Given the description of an element on the screen output the (x, y) to click on. 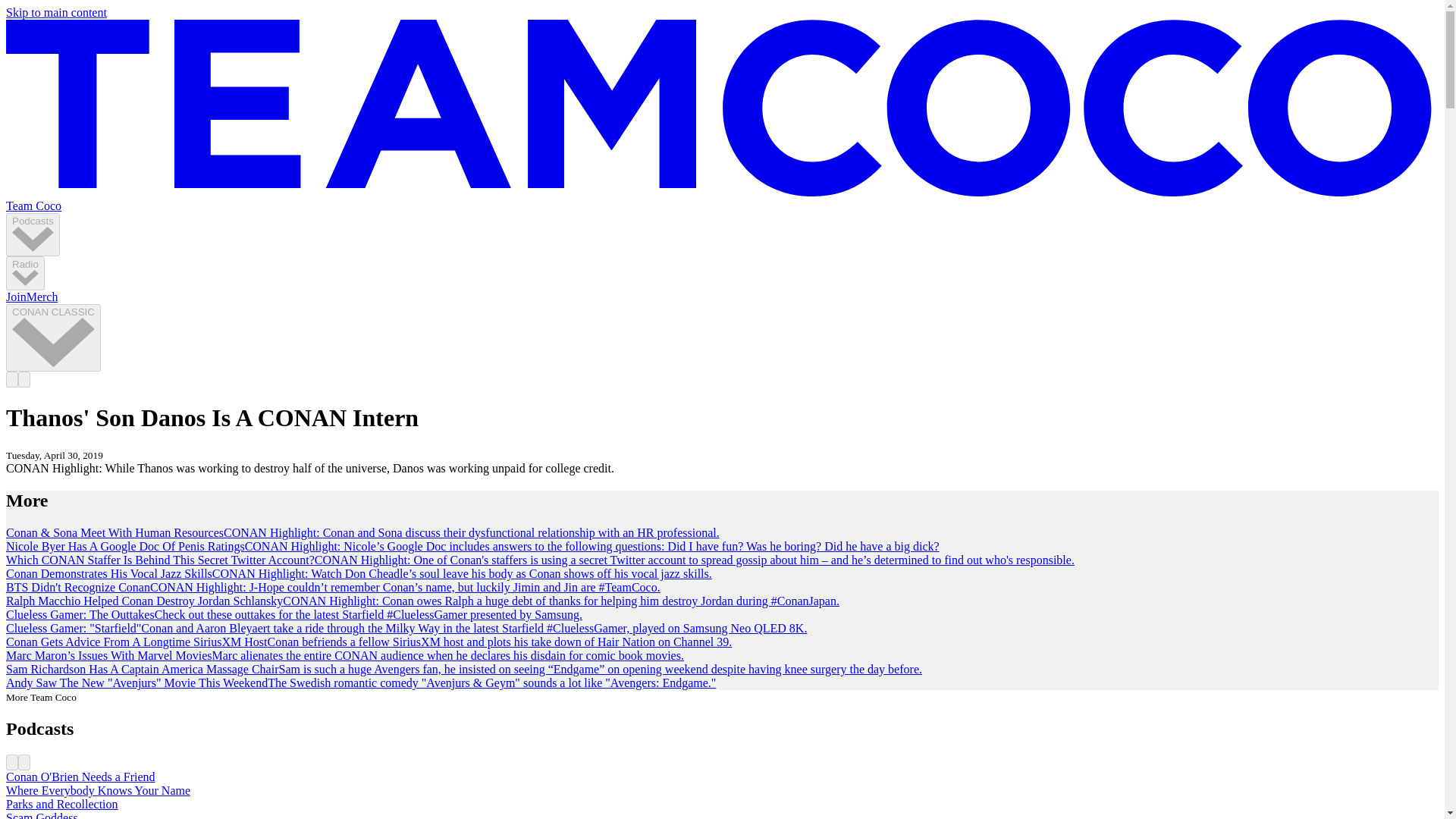
Ralph Macchio Helped Conan Destroy Jordan Schlansky (143, 600)
Clueless Gamer: "Starfield" (73, 627)
Radio (25, 273)
Conan Gets Advice From A Longtime SiriusXM Host (135, 641)
Which CONAN Staffer Is Behind This Secret Twitter Account? (159, 559)
Merch (42, 296)
Conan Demonstrates His Vocal Jazz Skills (108, 573)
Join (15, 296)
BTS Didn't Recognize Conan (77, 586)
CONAN CLASSIC (52, 337)
Nicole Byer Has A Google Doc Of Penis Ratings (124, 545)
Podcasts (32, 234)
